Given the description of an element on the screen output the (x, y) to click on. 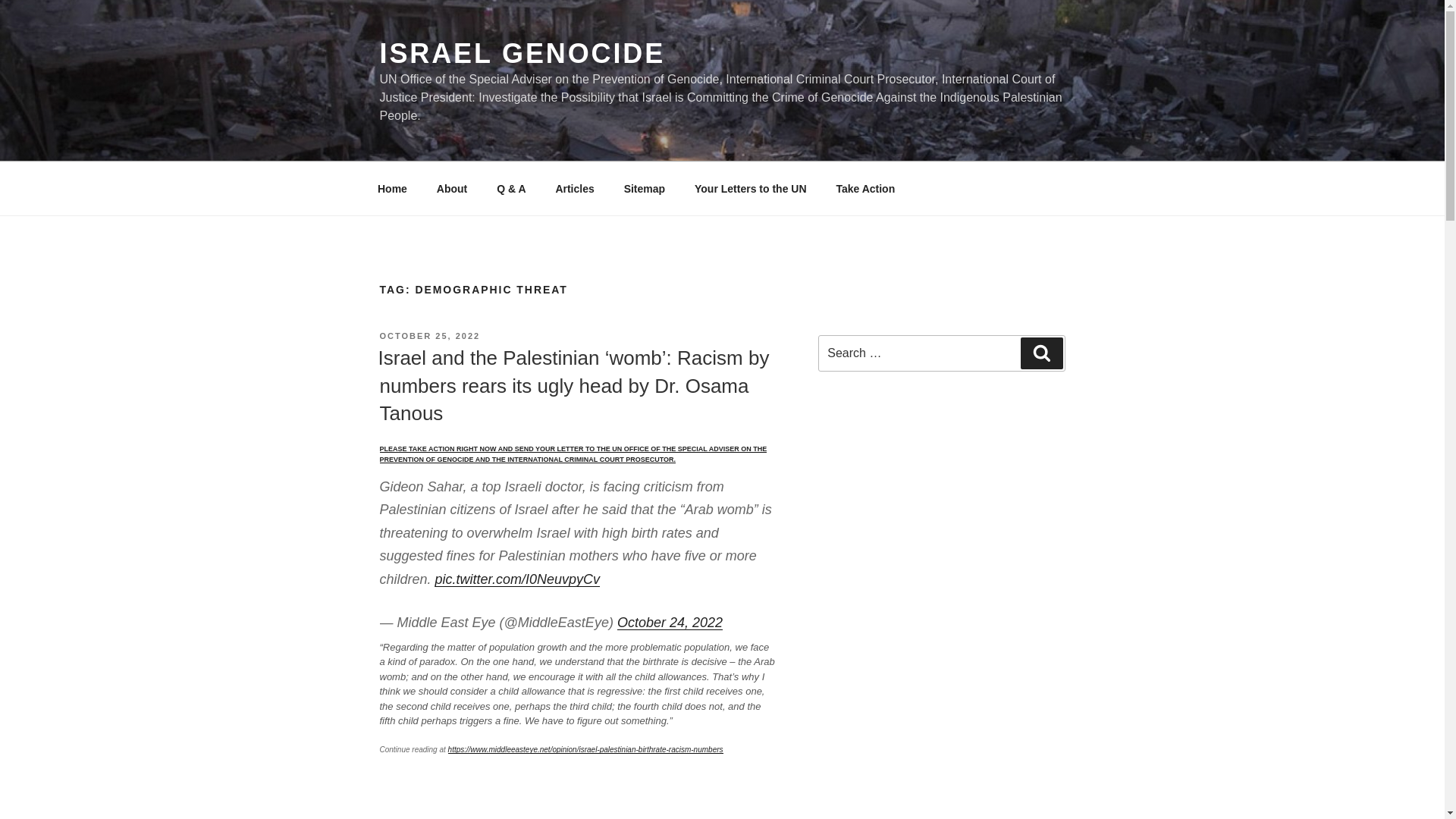
Take Action (865, 188)
Home (392, 188)
ISRAEL GENOCIDE (521, 52)
Articles (574, 188)
Search (1041, 353)
Sitemap (644, 188)
OCTOBER 25, 2022 (429, 335)
About (451, 188)
October 24, 2022 (669, 622)
